Given the description of an element on the screen output the (x, y) to click on. 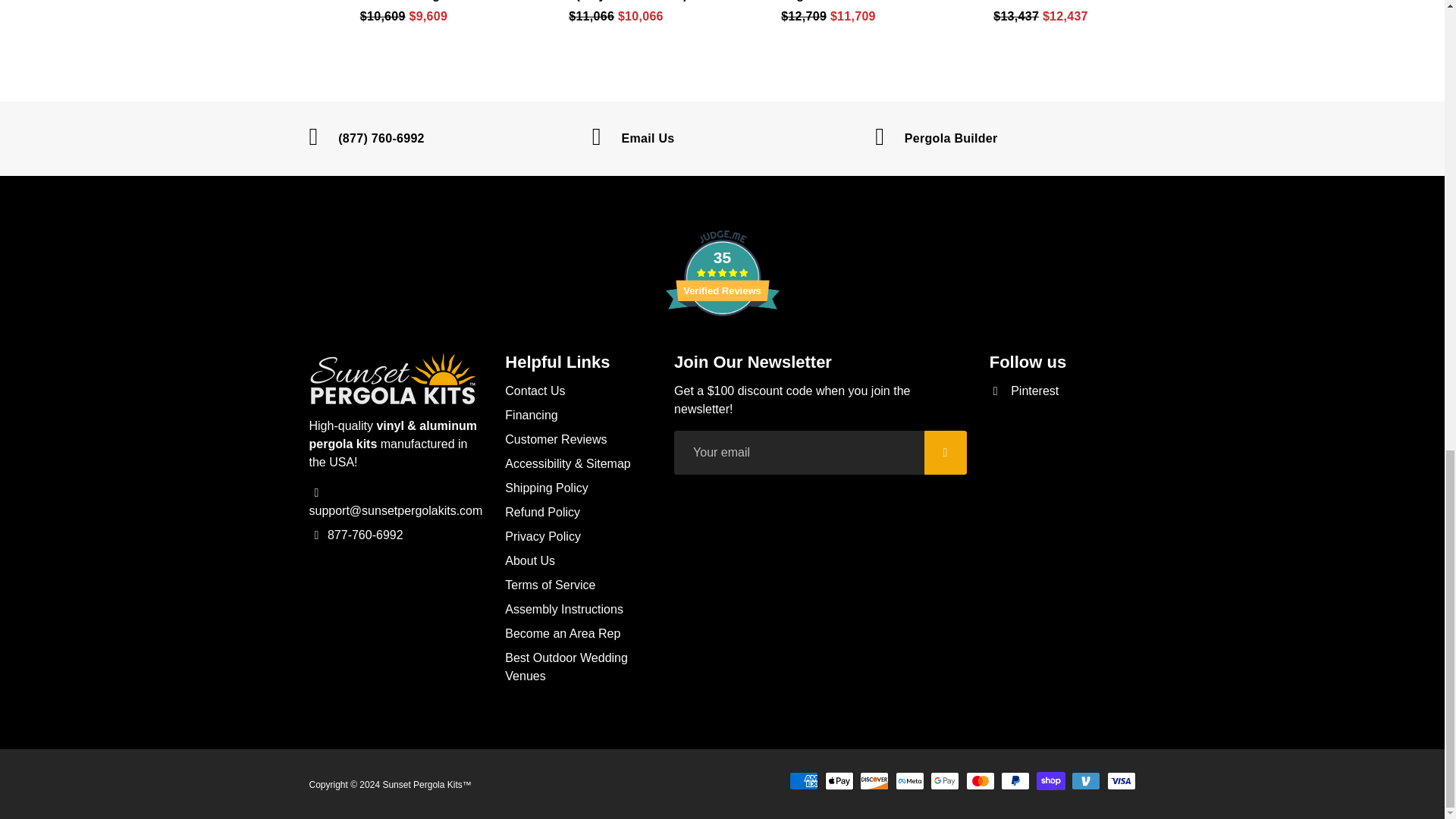
Mastercard (980, 781)
Google Pay (944, 781)
Apple Pay (839, 781)
Meta Pay (909, 781)
USA Made Pergola Kits (421, 784)
Sunset Pergola Kits on Pinterest (1024, 391)
Visa (1120, 781)
Shop Pay (1050, 781)
Discover (874, 781)
PayPal (1015, 781)
American Express (803, 781)
Venmo (1085, 781)
